Given the description of an element on the screen output the (x, y) to click on. 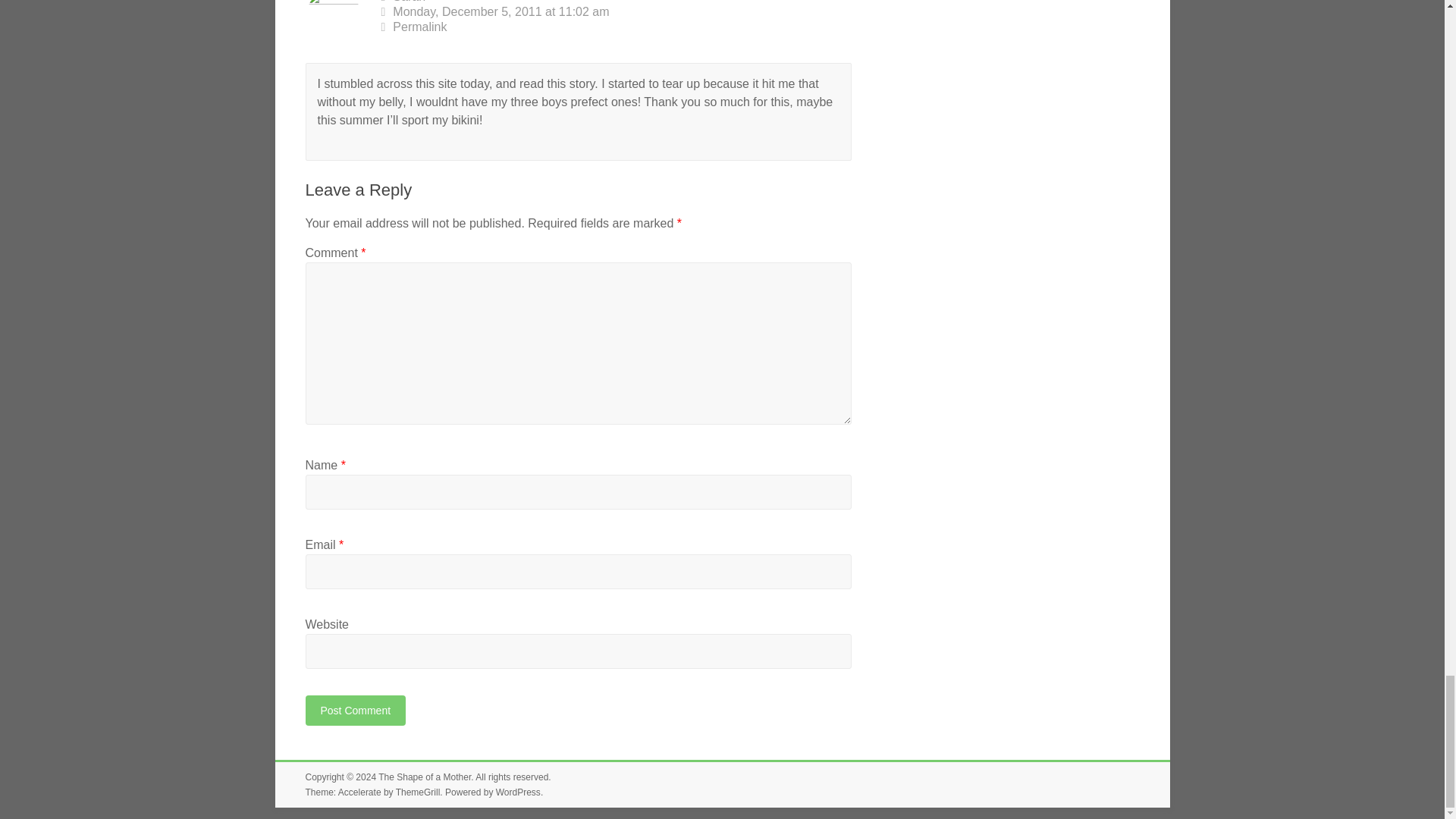
WordPress (518, 792)
Accelerate (359, 792)
The Shape of a Mother (424, 777)
Post Comment (355, 710)
